Given the description of an element on the screen output the (x, y) to click on. 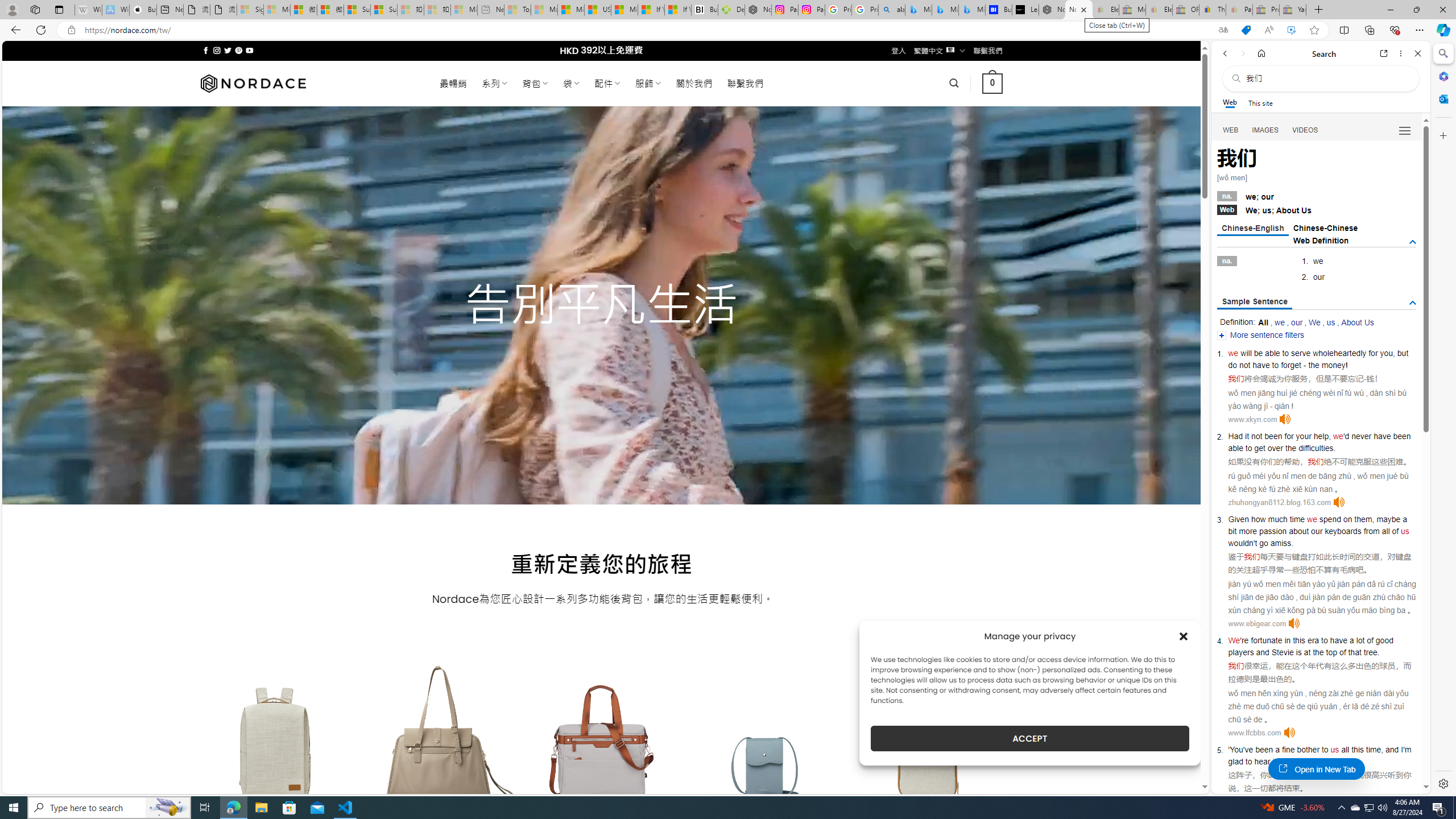
serve (1300, 352)
maybe (1387, 519)
